Given the description of an element on the screen output the (x, y) to click on. 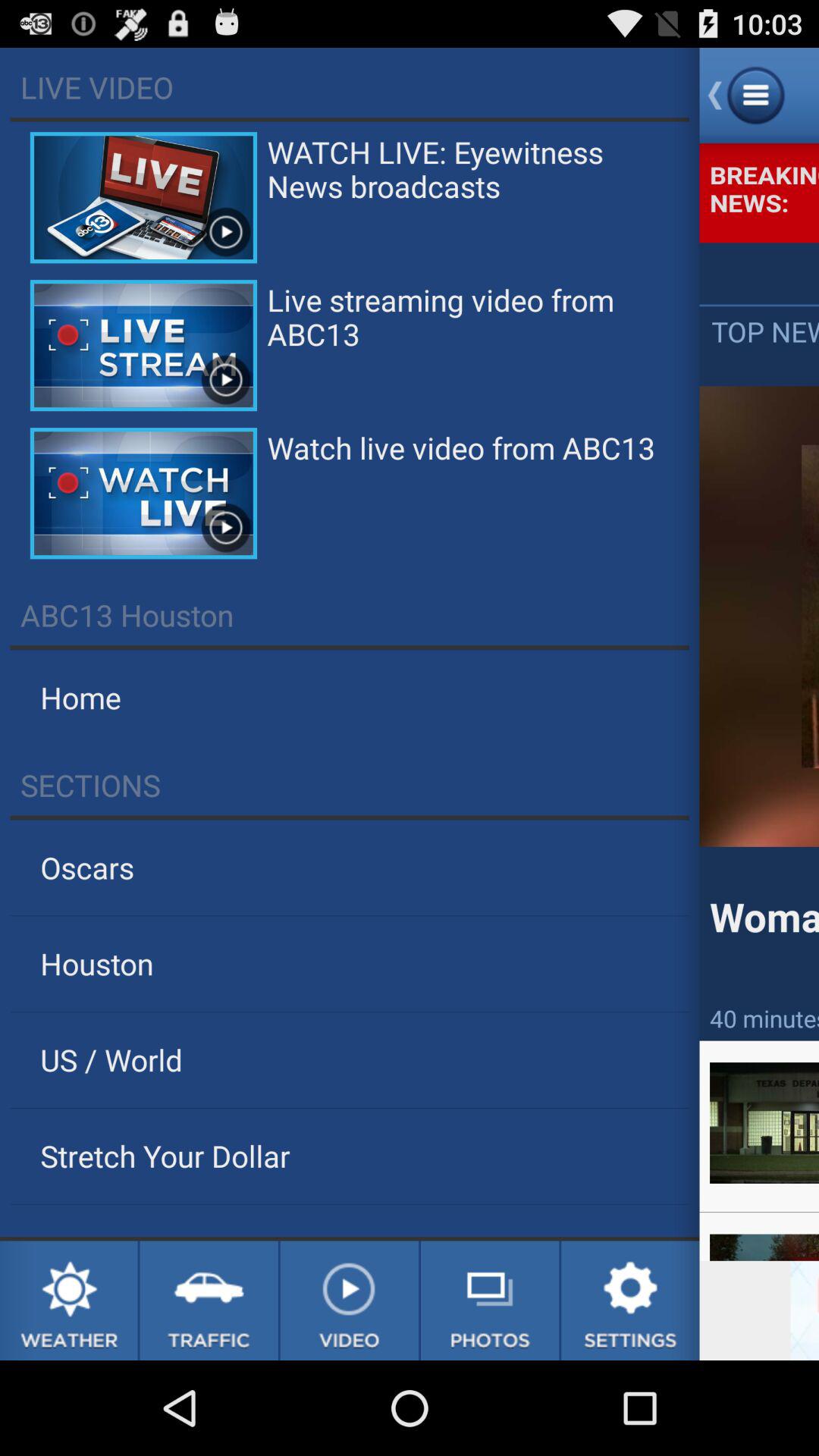
go to photos section (489, 1300)
